Given the description of an element on the screen output the (x, y) to click on. 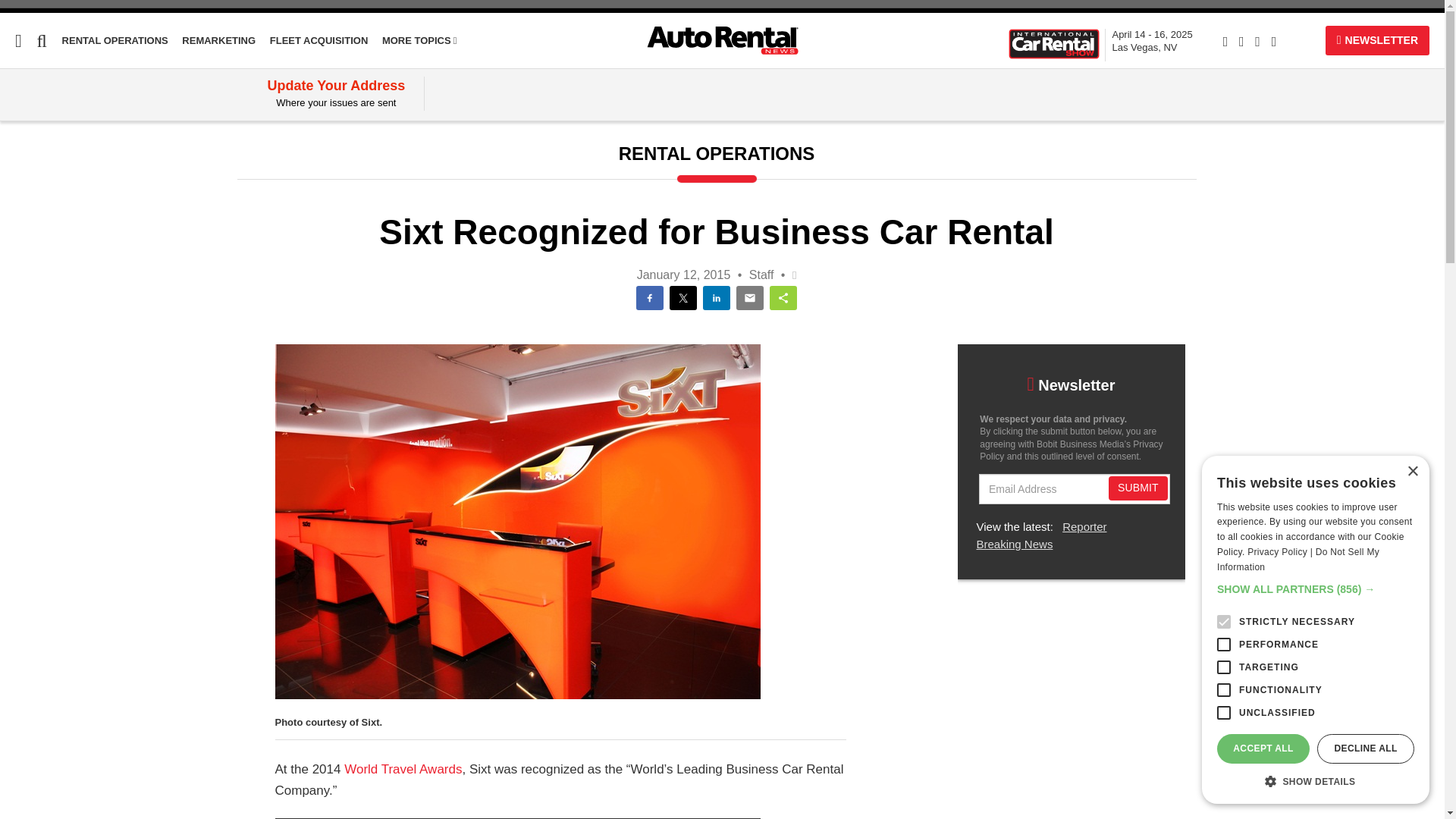
Telematics (31, 196)
International Car Rental Show (1054, 42)
Fleet Acquisition (318, 40)
Remarketing (37, 167)
Rental Operations (1152, 40)
Rental Operations (53, 225)
FLEET ACQUISITION (53, 225)
REMARKETING (318, 40)
MORE TOPICS (219, 40)
RENTAL OPERATIONS (419, 40)
Remarketing (115, 40)
Home (219, 40)
April 14 - 16, 2025 (16, 138)
Rental Operations (1152, 40)
